Given the description of an element on the screen output the (x, y) to click on. 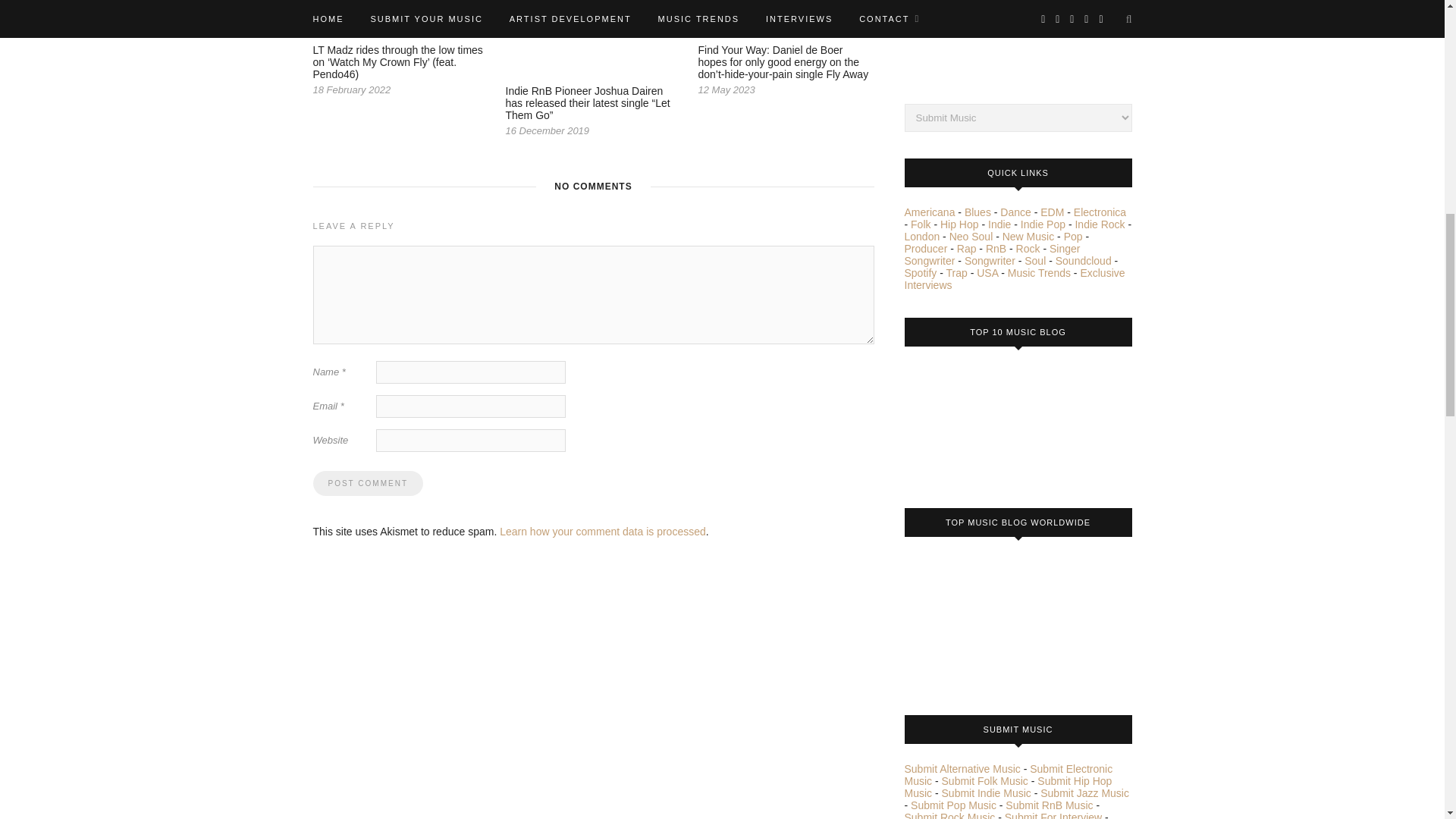
Hip Hop (959, 224)
Blues (977, 212)
Indie Rock (1099, 224)
EDM (1052, 212)
Folk (920, 224)
Dance (1015, 212)
Learn how your comment data is processed (602, 531)
Top 10 Music Blog (960, 422)
Indie (999, 224)
Electronica (1099, 212)
Post Comment (367, 483)
Post Comment (367, 483)
London (921, 236)
Americana (929, 212)
Indie Pop (1042, 224)
